Given the description of an element on the screen output the (x, y) to click on. 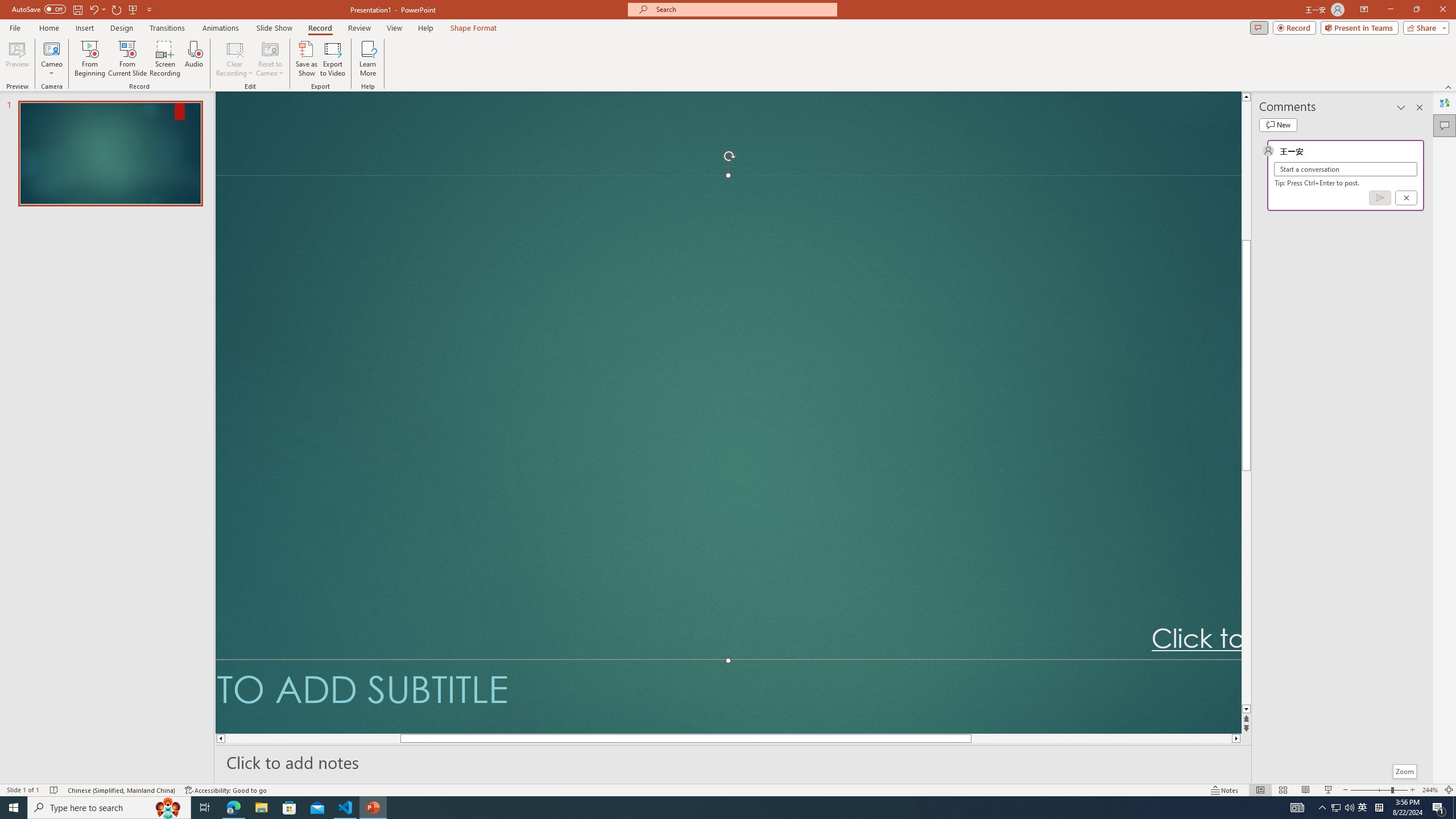
Export to Video (332, 58)
Close pane (1419, 107)
Post comment (Ctrl + Enter) (1379, 197)
From Beginning... (89, 58)
Cameo (51, 48)
Slide (110, 153)
